Given the description of an element on the screen output the (x, y) to click on. 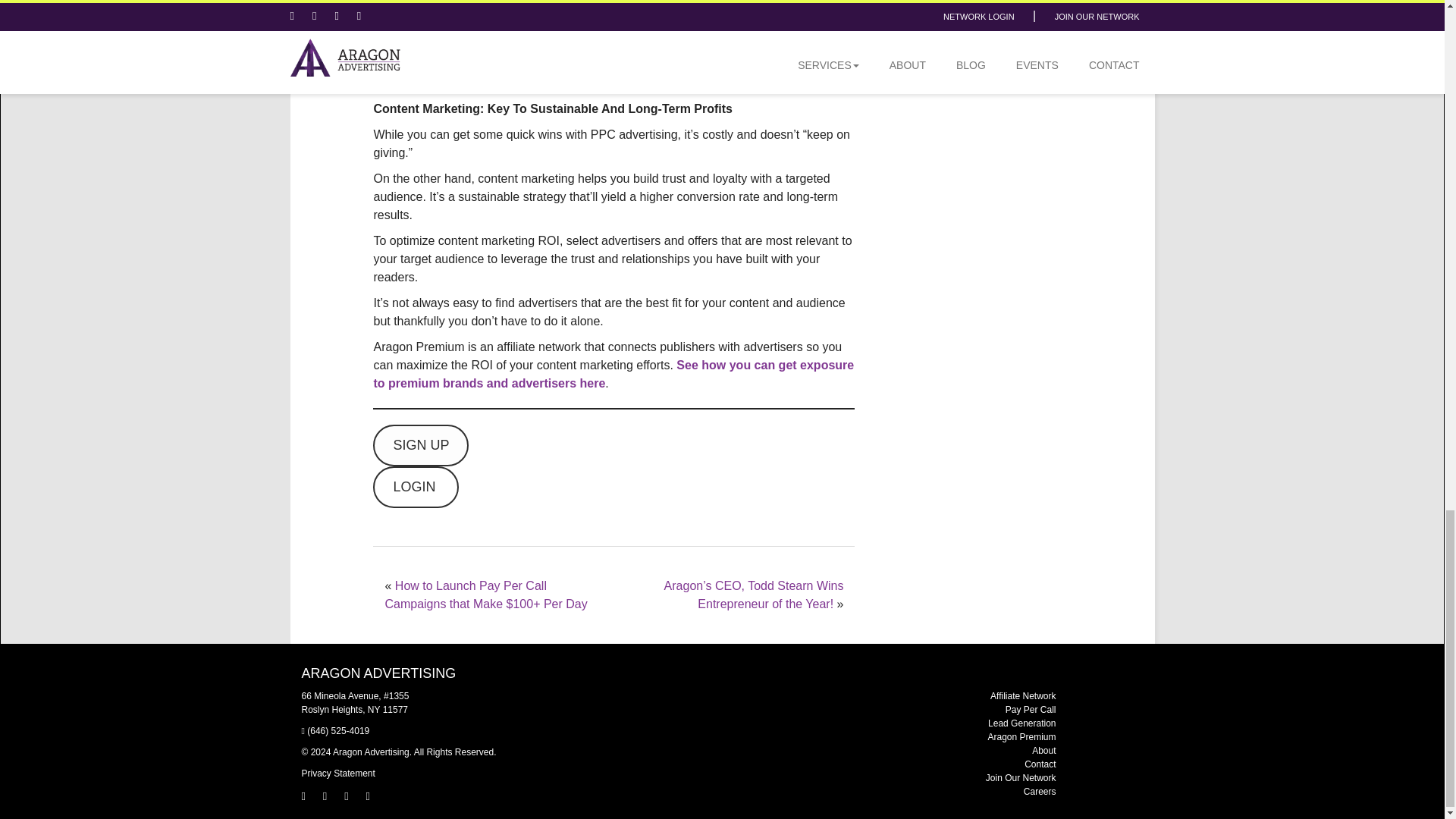
LOGIN  (415, 486)
SIGN UP (420, 445)
